Given the description of an element on the screen output the (x, y) to click on. 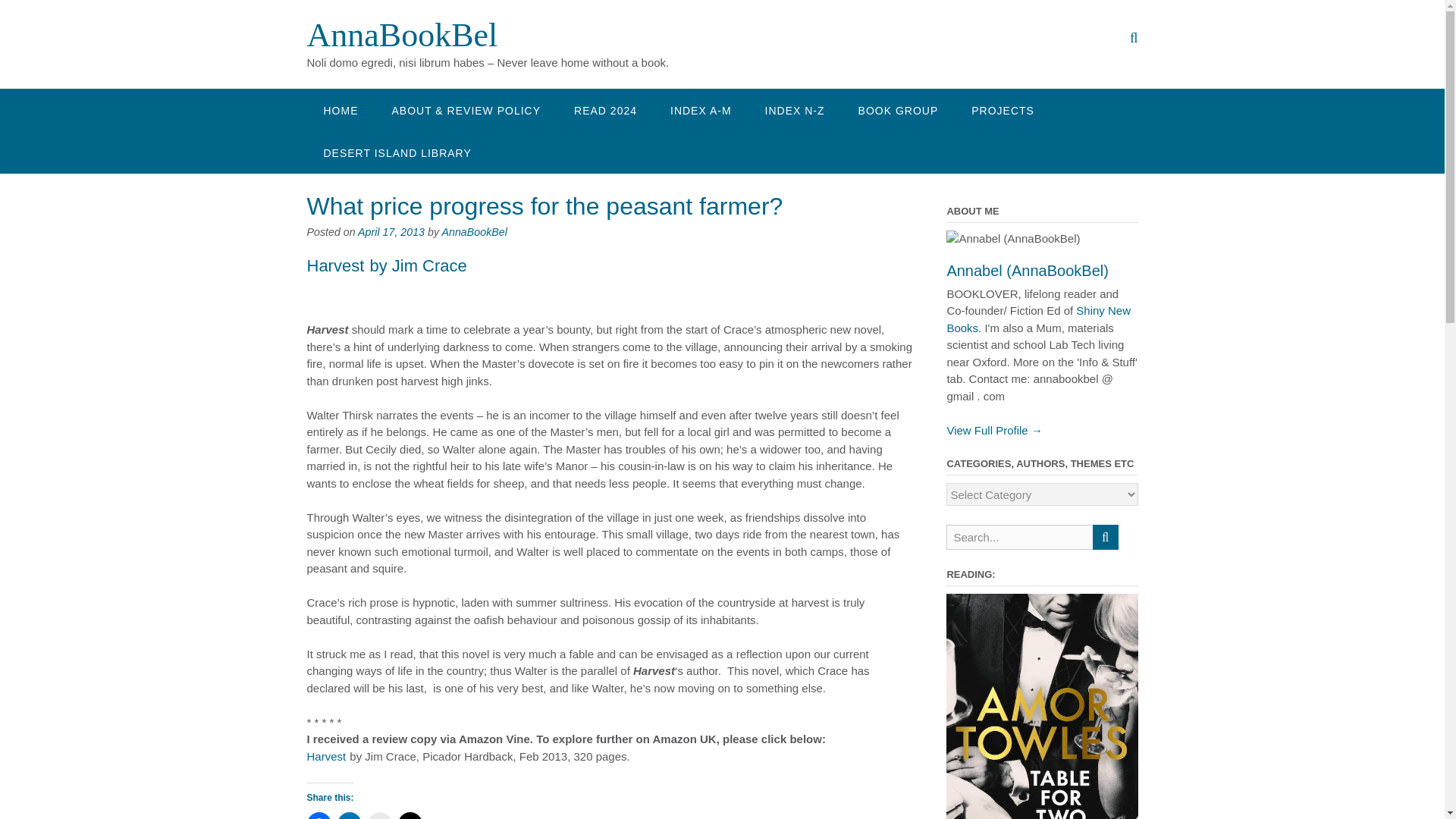
READ 2024 (605, 109)
AnnaBookBel (401, 35)
Harvest (334, 265)
AnnaBookBel (401, 35)
BOOK GROUP (898, 109)
Click to share on X (409, 815)
Click to share on LinkedIn (348, 815)
HOME (339, 109)
Search for: (1019, 536)
AnnaBookBel (473, 232)
Click to share on Facebook (317, 815)
Harvest (325, 756)
DESERT ISLAND LIBRARY (396, 152)
April 17, 2013 (391, 232)
INDEX A-M (700, 109)
